Given the description of an element on the screen output the (x, y) to click on. 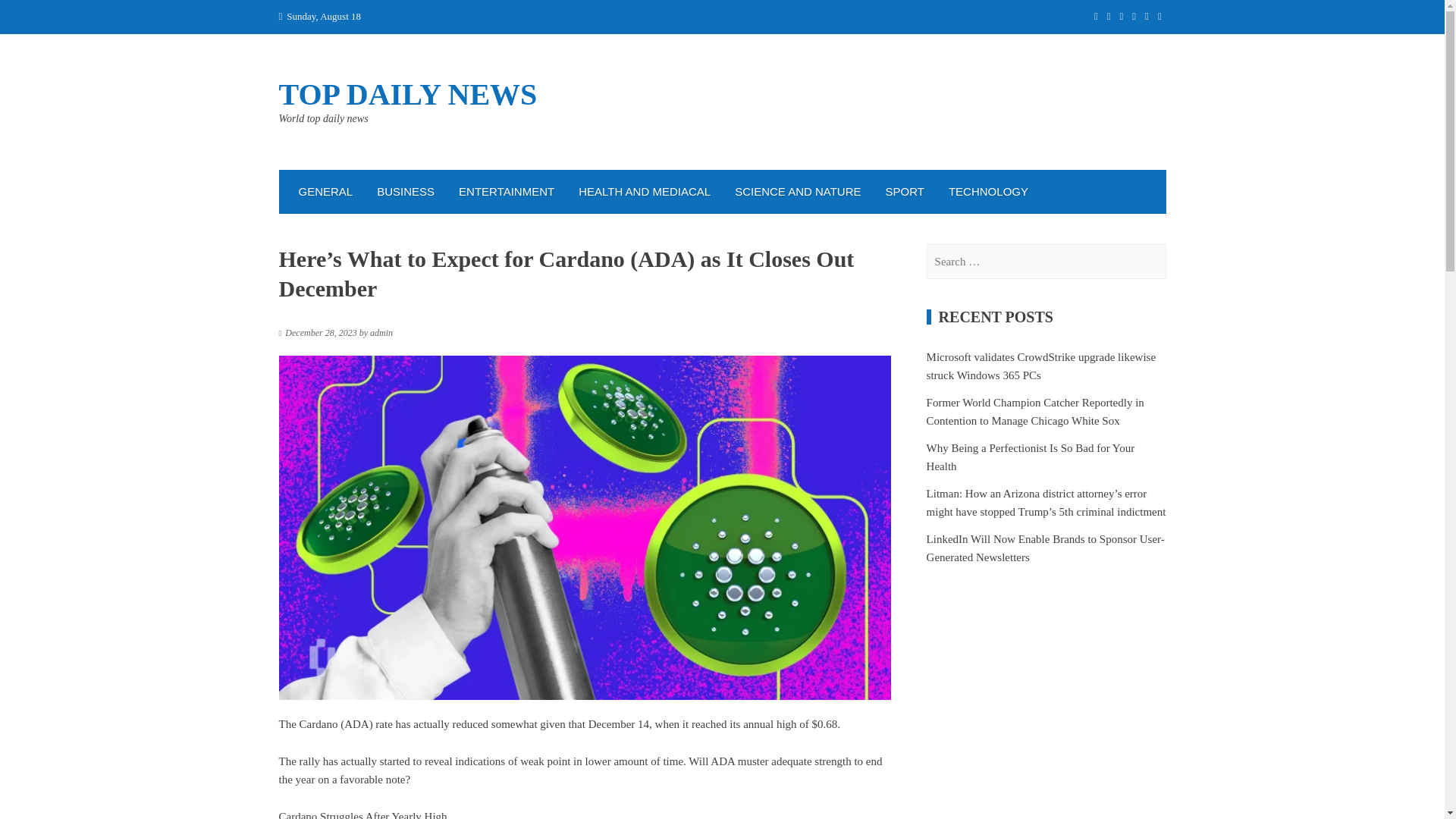
SPORT (904, 191)
HEALTH AND MEDIACAL (644, 191)
Search (30, 16)
TECHNOLOGY (988, 191)
ENTERTAINMENT (506, 191)
SCIENCE AND NATURE (797, 191)
Why Being a Perfectionist Is So Bad for Your Health (1030, 457)
